Given the description of an element on the screen output the (x, y) to click on. 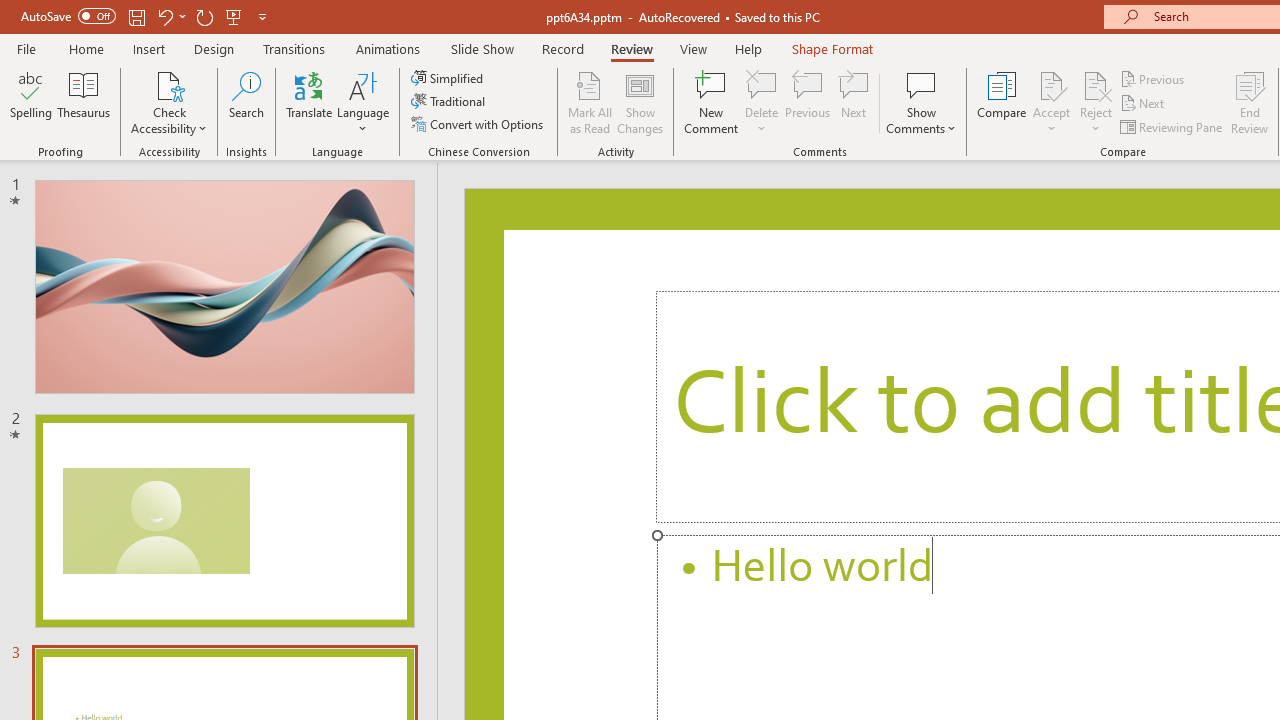
Quick Access Toolbar (145, 16)
Home (86, 48)
Customize Quick Access Toolbar (262, 15)
File Tab (26, 48)
Show Comments (921, 102)
